Given the description of an element on the screen output the (x, y) to click on. 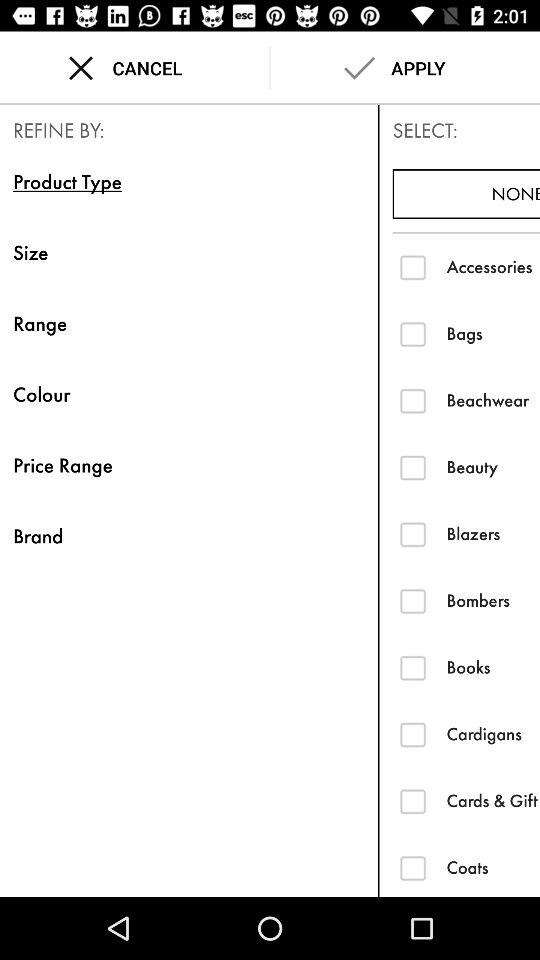
turn on item below bombers item (493, 667)
